Given the description of an element on the screen output the (x, y) to click on. 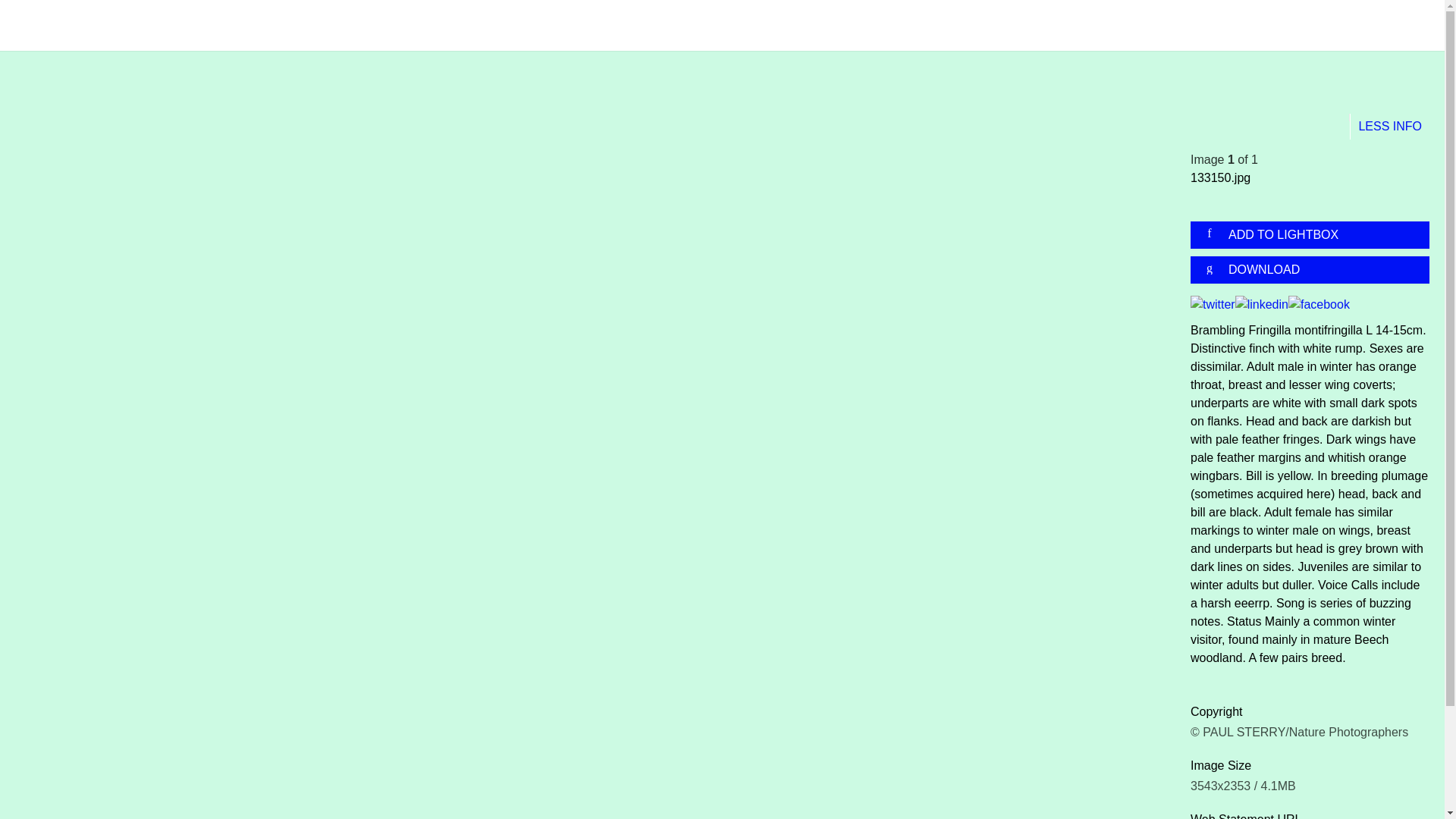
DOWNLOAD (1316, 269)
Nature Photographers Ltd (224, 24)
Info (1390, 126)
ADD TO LIGHTBOX (1316, 234)
Nature Photographers Ltd (224, 24)
